Given the description of an element on the screen output the (x, y) to click on. 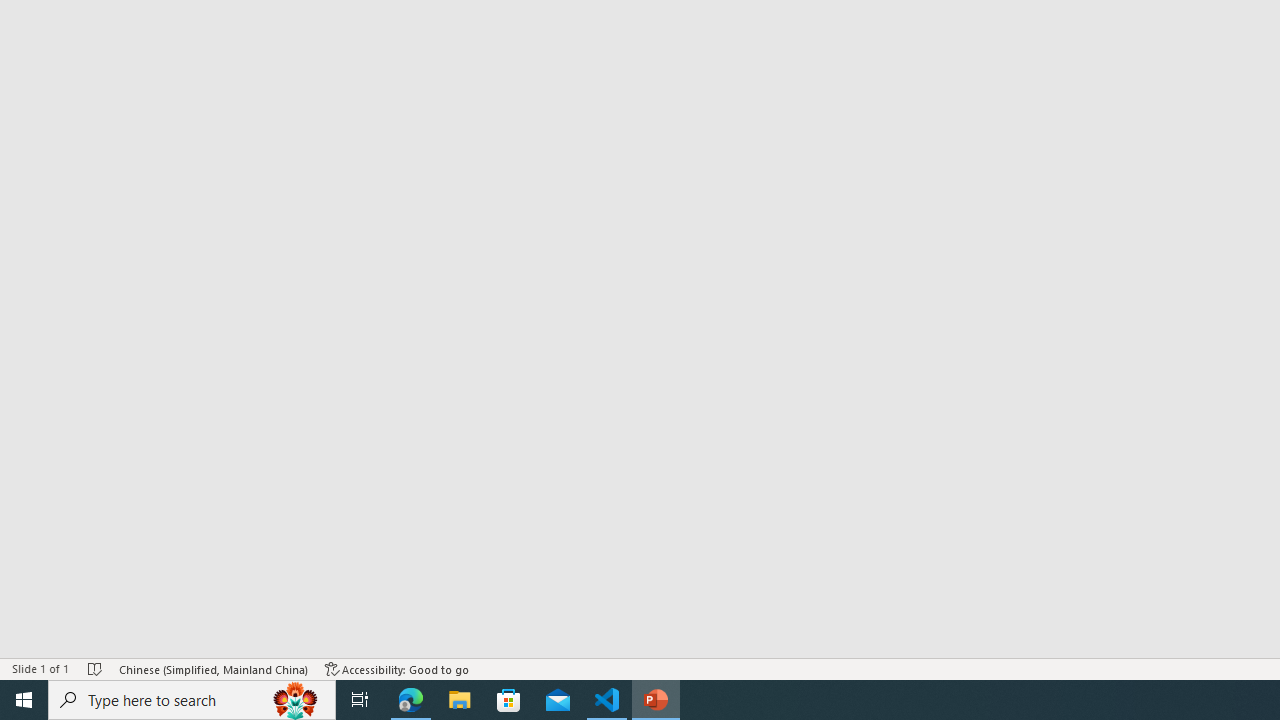
Accessibility Checker Accessibility: Good to go (397, 668)
